Given the description of an element on the screen output the (x, y) to click on. 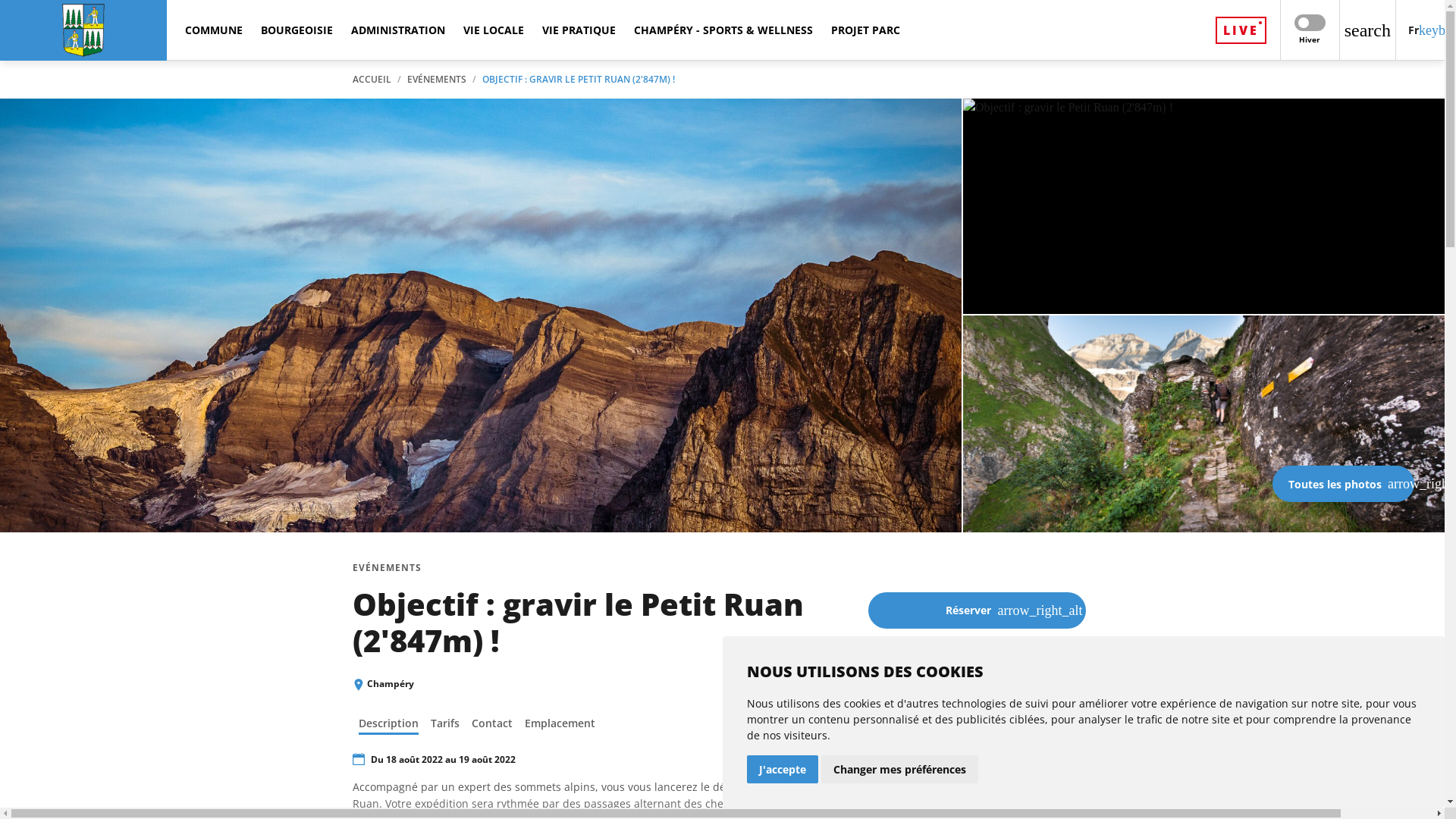
Contact Element type: text (491, 723)
Tarifs Element type: text (444, 723)
Toutes les photos
arrow_right_alt Element type: text (1343, 483)
search Element type: text (1367, 29)
phone APPELER Element type: text (915, 682)
OBJECTIF : GRAVIR LE PETIT RUAN (2'847M) ! Element type: text (578, 79)
print Imprimer Element type: text (977, 796)
ACCUEIL Element type: text (370, 79)
Emplacement Element type: text (559, 723)
LIVE Element type: text (1240, 29)
favorite_border Favoris Element type: text (977, 753)
J'accepte Element type: text (781, 769)
Description Element type: text (387, 724)
phone APPELER Element type: text (916, 683)
Fr
keyboard_arrow_down Element type: text (1420, 30)
